Given the description of an element on the screen output the (x, y) to click on. 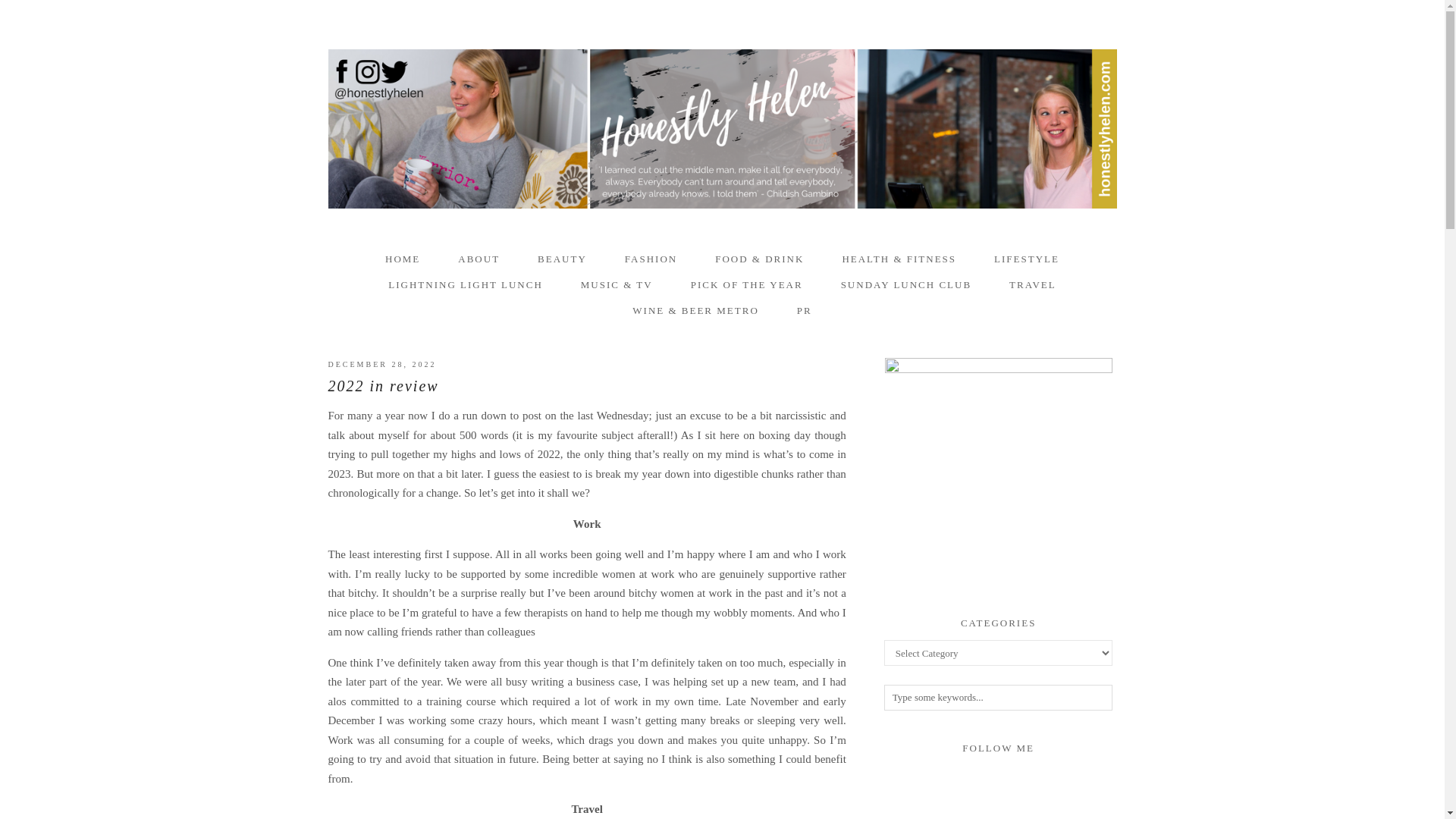
LIGHTNING LIGHT LUNCH (465, 284)
Facebook (998, 776)
PICK OF THE YEAR (746, 284)
FASHION (650, 258)
TRAVEL (1032, 284)
SUNDAY LUNCH CLUB (906, 284)
ABOUT (478, 258)
Honestly Helen (721, 128)
Twitter (971, 776)
LIFESTYLE (1026, 258)
